Given the description of an element on the screen output the (x, y) to click on. 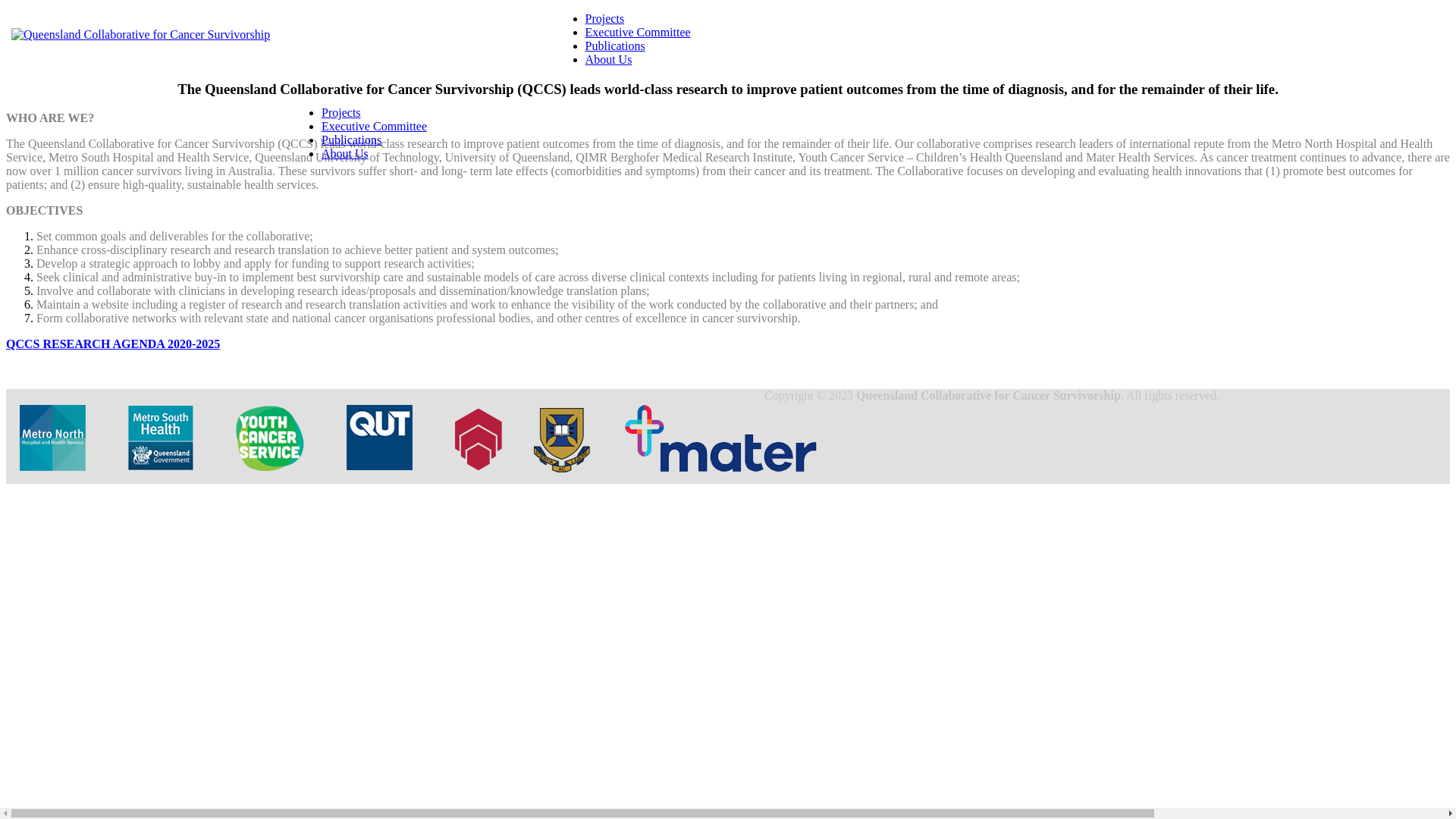
Projects Element type: text (604, 18)
About Us Element type: text (608, 59)
Executive Committee Element type: text (637, 31)
Projects Element type: text (340, 112)
Queensland Collaborative for Cancer Survivorship Element type: hover (140, 34)
QCCS RESEARCH AGENDA 2020-2025 Element type: text (112, 343)
Publications Element type: text (351, 139)
About Us Element type: text (344, 153)
Publications Element type: text (615, 45)
Executive Committee Element type: text (373, 125)
